Given the description of an element on the screen output the (x, y) to click on. 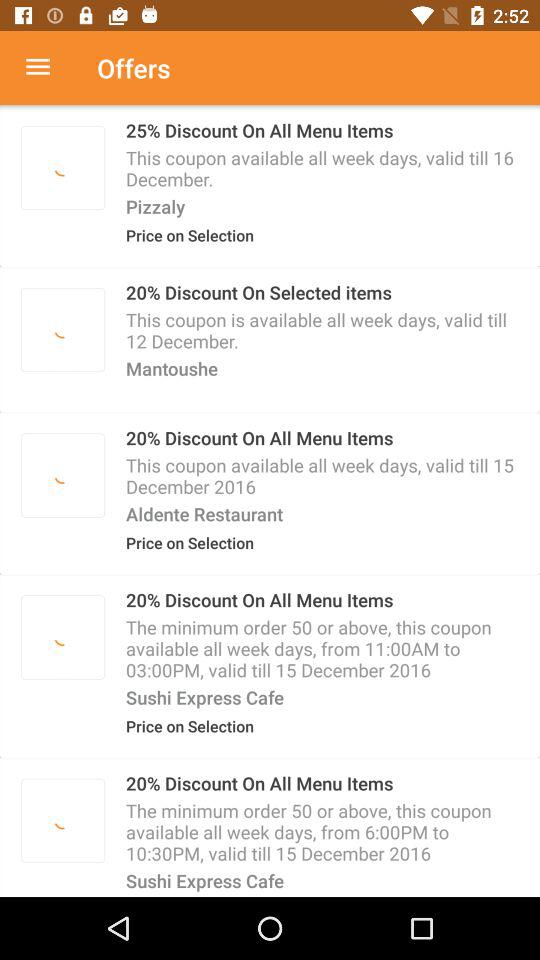
choose the item to the left of the offers item (48, 67)
